Given the description of an element on the screen output the (x, y) to click on. 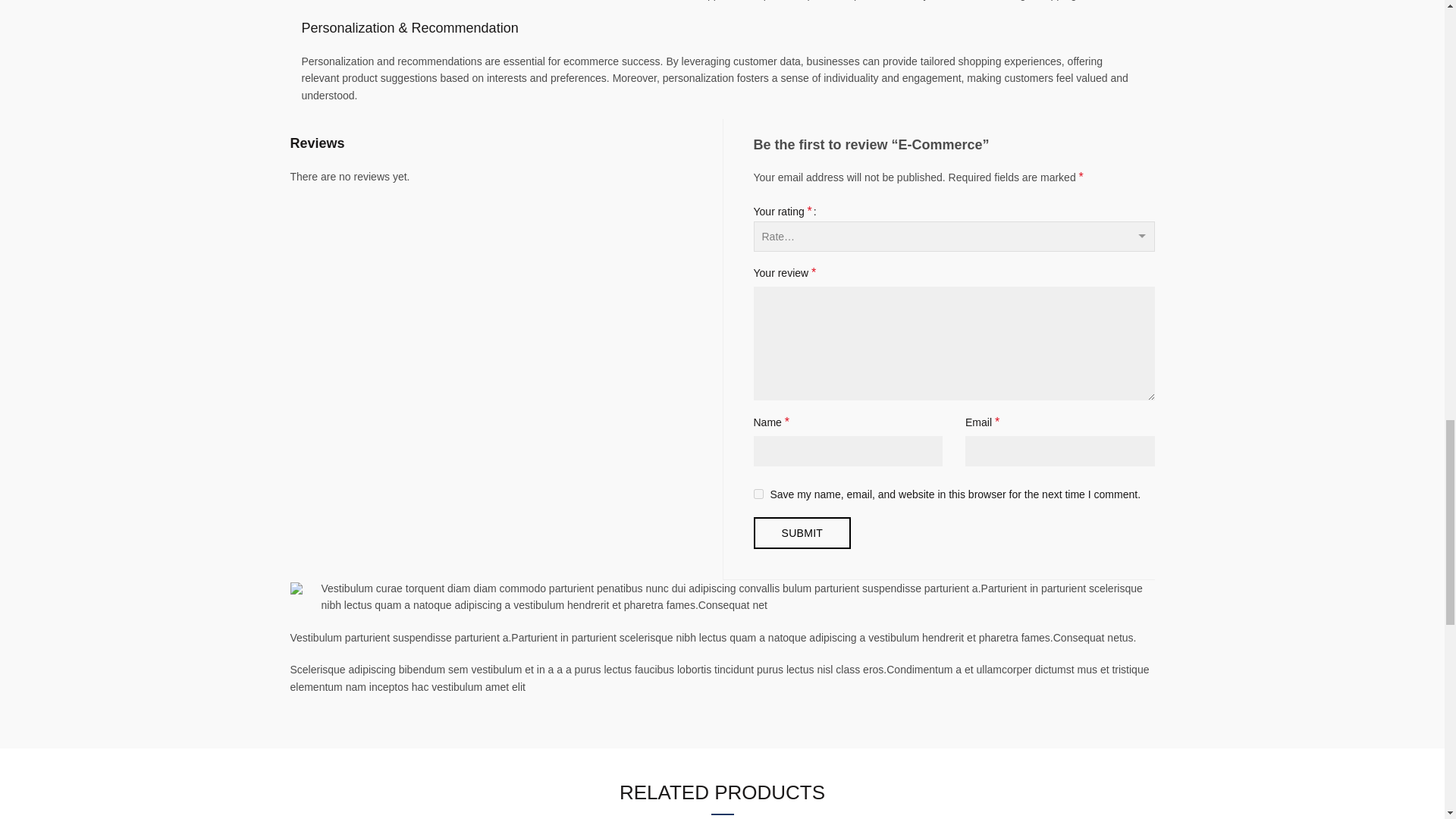
Submit (802, 532)
yes (758, 493)
